Given the description of an element on the screen output the (x, y) to click on. 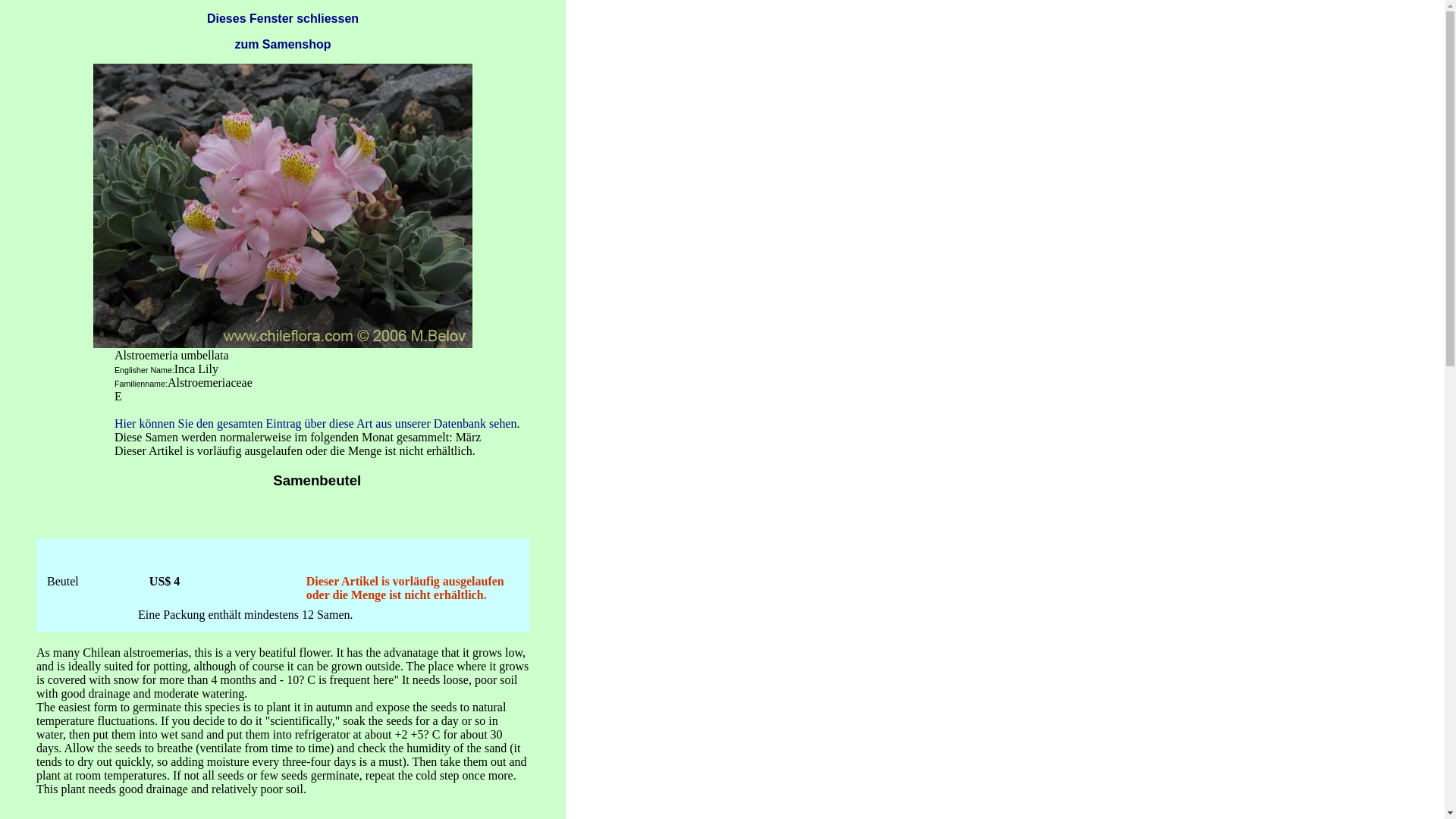
zum Samenshop (282, 43)
Dieses Fenster schliessen (283, 18)
